Given the description of an element on the screen output the (x, y) to click on. 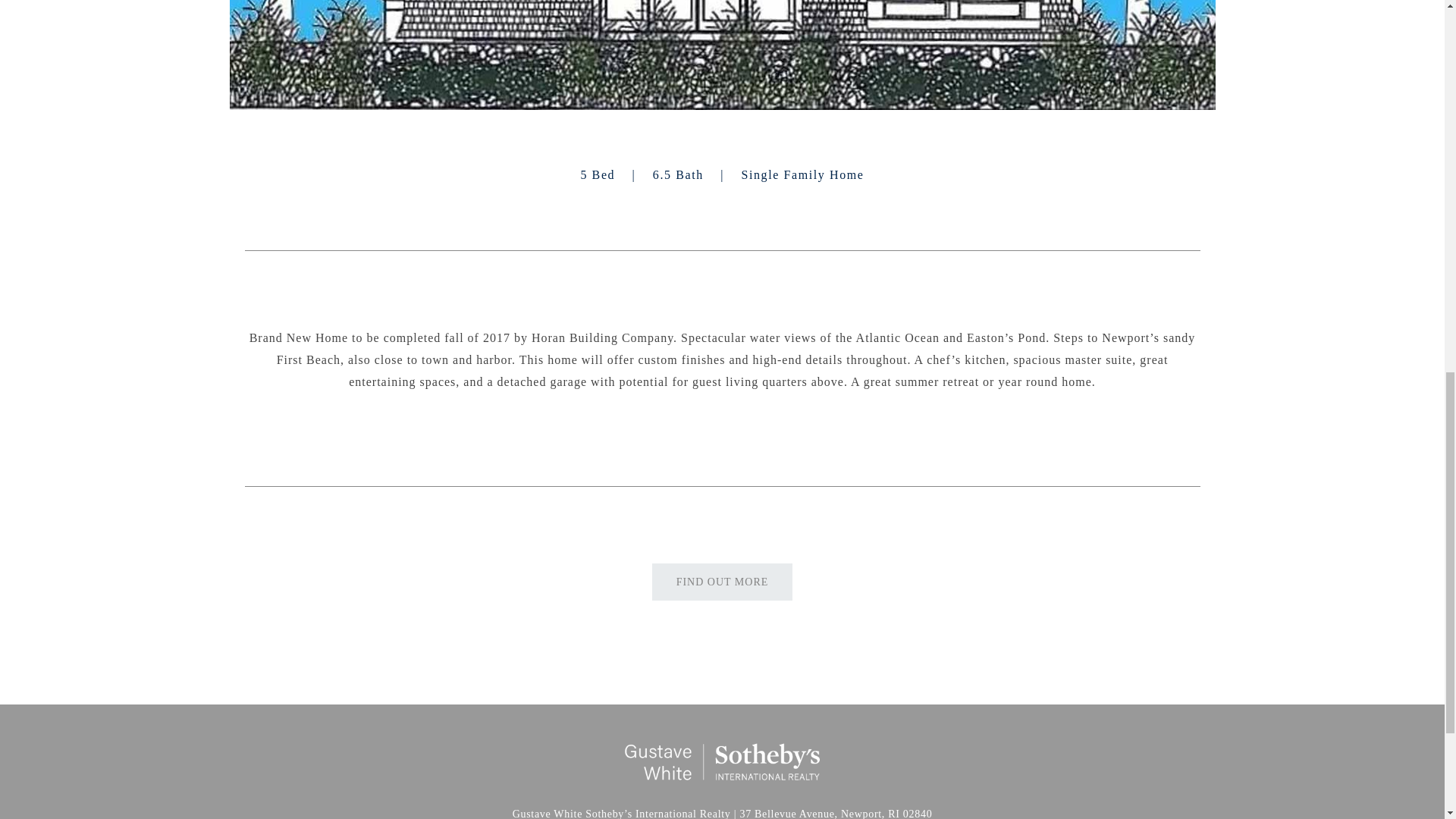
183-Old-Beach-Rd (721, 54)
FIND OUT MORE (722, 581)
